Given the description of an element on the screen output the (x, y) to click on. 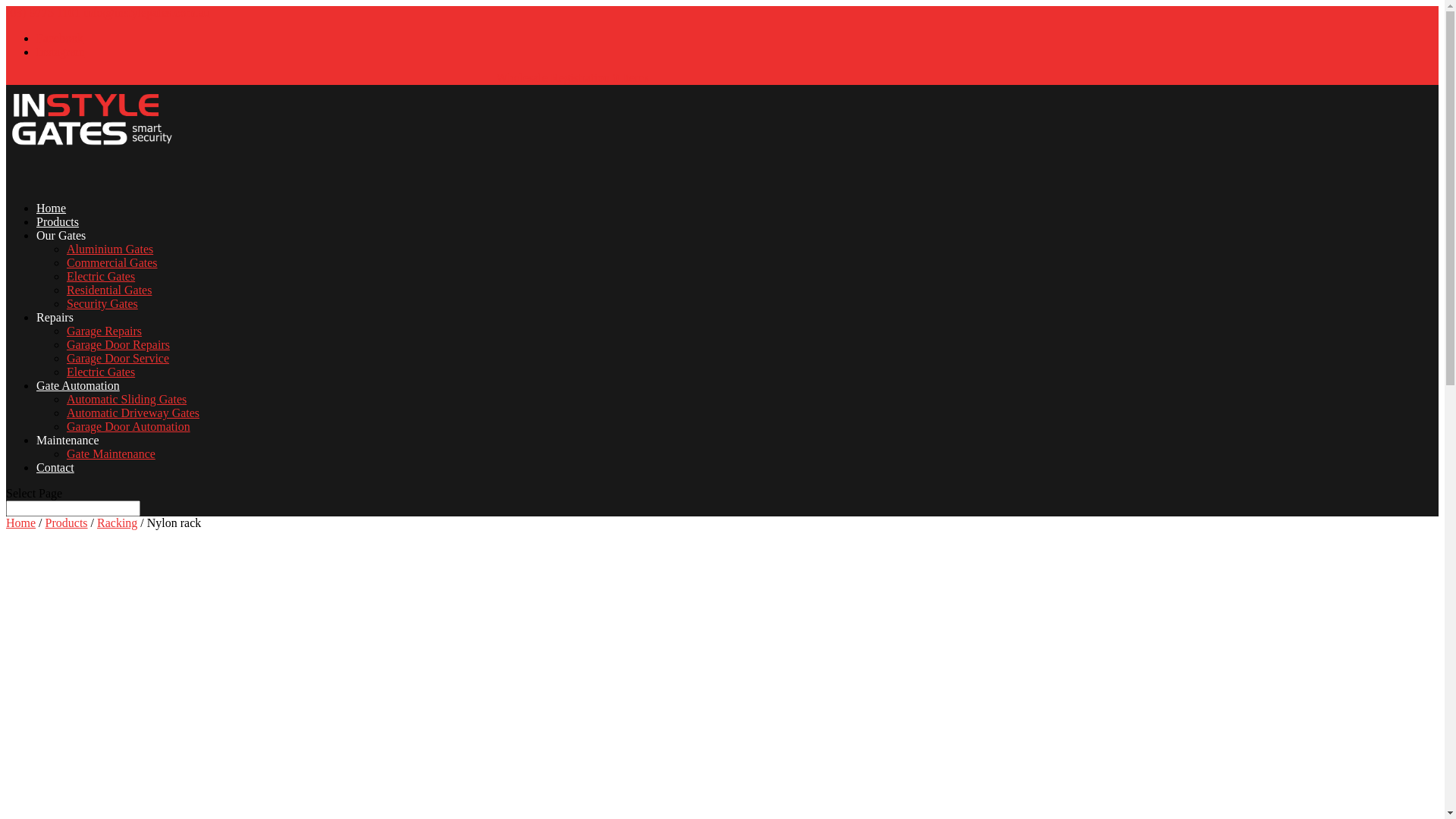
Gate Automation Element type: text (77, 402)
Search for: Element type: hover (73, 508)
Racking Element type: text (117, 522)
Home Element type: text (20, 522)
Contact Element type: text (55, 484)
Products Element type: text (57, 238)
Home Element type: text (50, 224)
Garage Door Automation Element type: text (128, 426)
Gate Maintenance Element type: text (110, 453)
Garage Door Service Element type: text (117, 357)
Repairs Element type: text (54, 333)
Garage Repairs Element type: text (103, 330)
Security Gates Element type: text (102, 303)
Automatic Driveway Gates Element type: text (132, 412)
Facebook Element type: text (59, 37)
0 Items Element type: text (629, 77)
Electric Gates Element type: text (100, 371)
Aluminium Gates Element type: text (109, 248)
Wholesale Registration Element type: text (552, 77)
Products Element type: text (66, 522)
Residential Gates Element type: text (108, 289)
Electric Gates Element type: text (100, 275)
Our Gates Element type: text (60, 252)
(03) 9775 1101 Element type: text (43, 12)
info@instylegates.com.au Element type: text (146, 12)
Garage Door Repairs Element type: text (117, 344)
Automatic Sliding Gates Element type: text (126, 398)
Commercial Gates Element type: text (111, 262)
Instagram Element type: text (60, 51)
Maintenance Element type: text (67, 456)
